Given the description of an element on the screen output the (x, y) to click on. 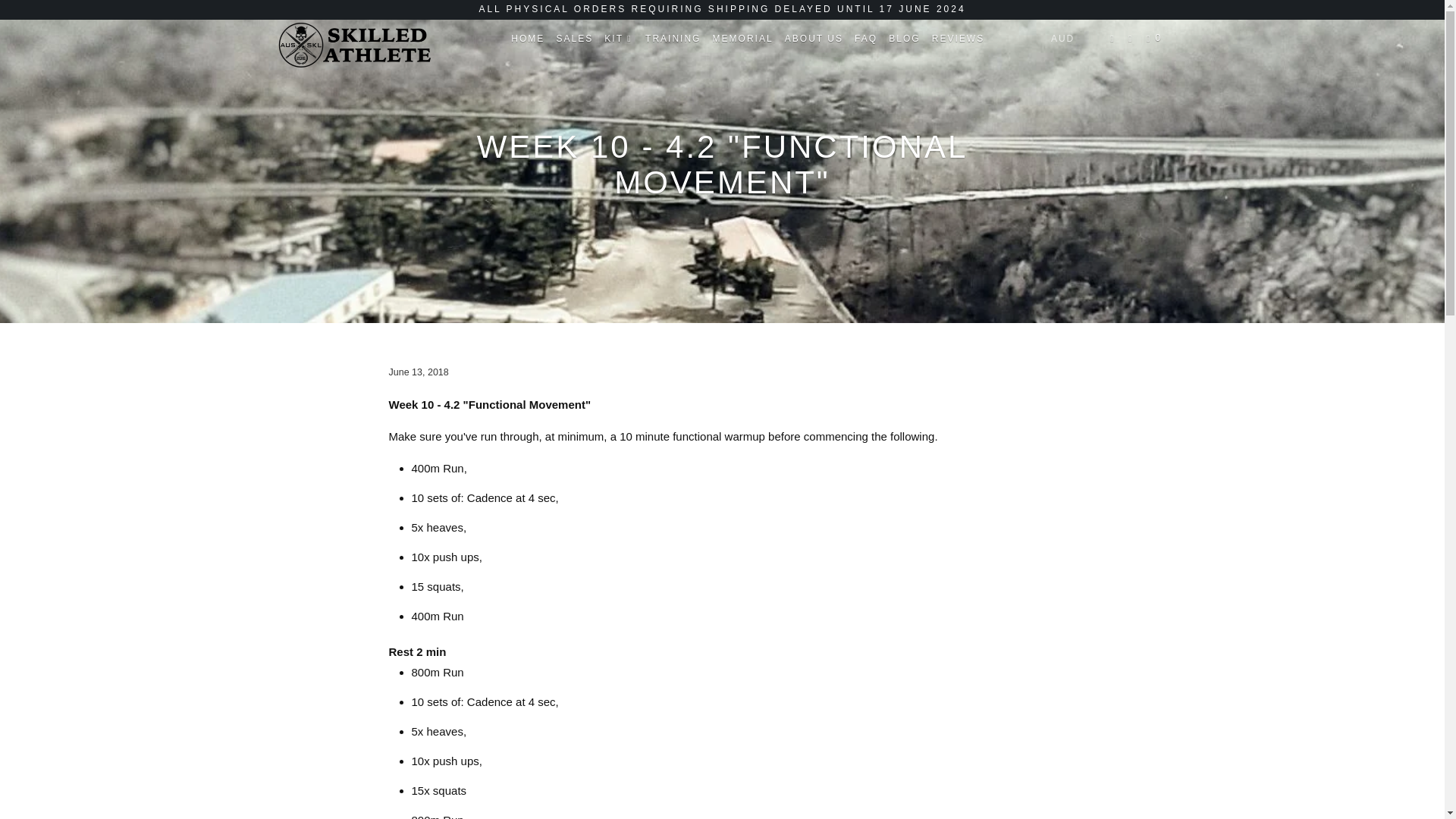
SKILLED ATHLETE (352, 44)
MEMORIAL (743, 38)
ABOUT US (813, 38)
KIT (619, 38)
TRAINING (672, 38)
REVIEWS (957, 38)
SALES (574, 38)
0 (1154, 38)
BLOG (904, 38)
FAQ (865, 38)
